Given the description of an element on the screen output the (x, y) to click on. 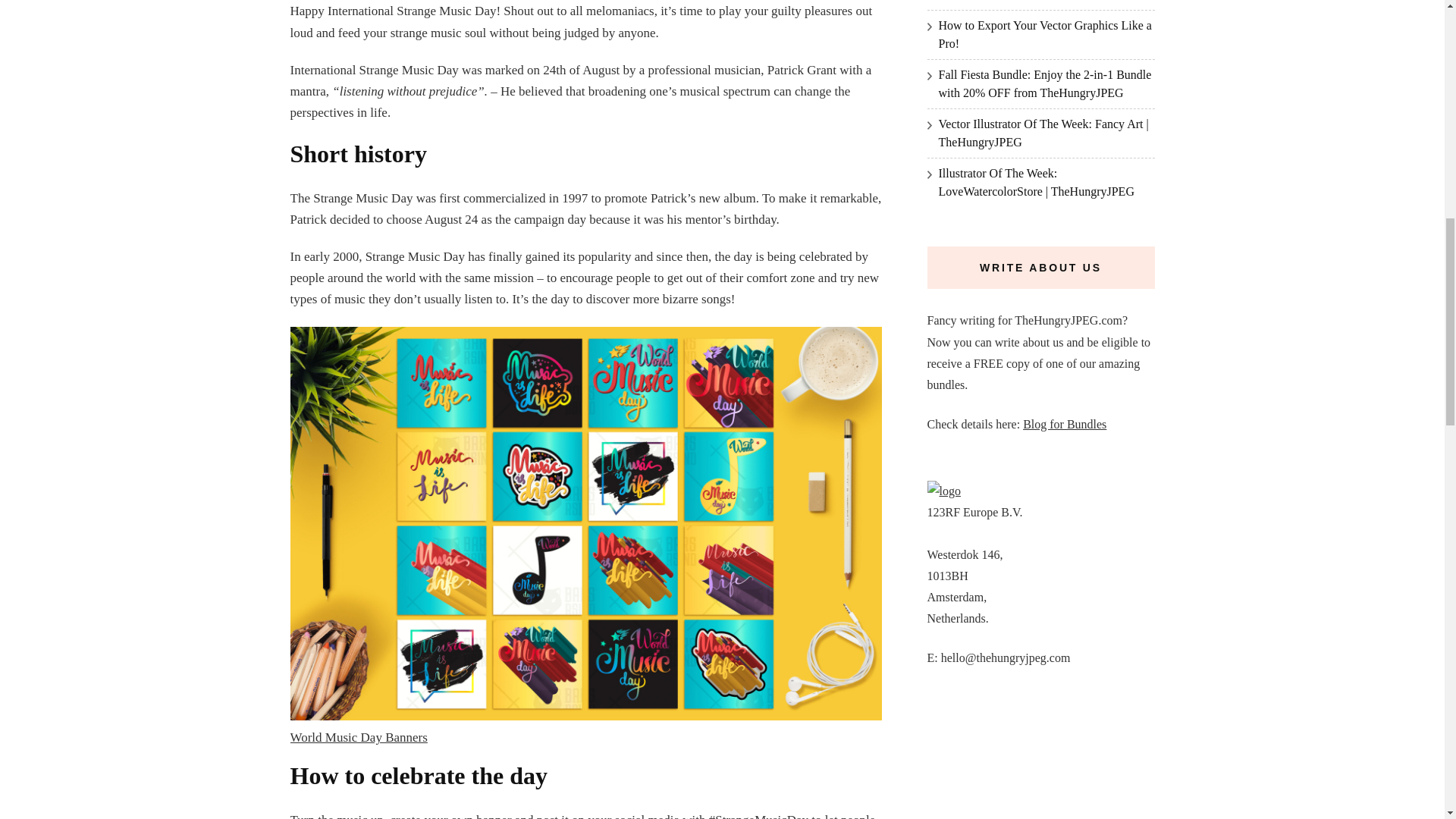
World Music Day Banners (357, 737)
